Given the description of an element on the screen output the (x, y) to click on. 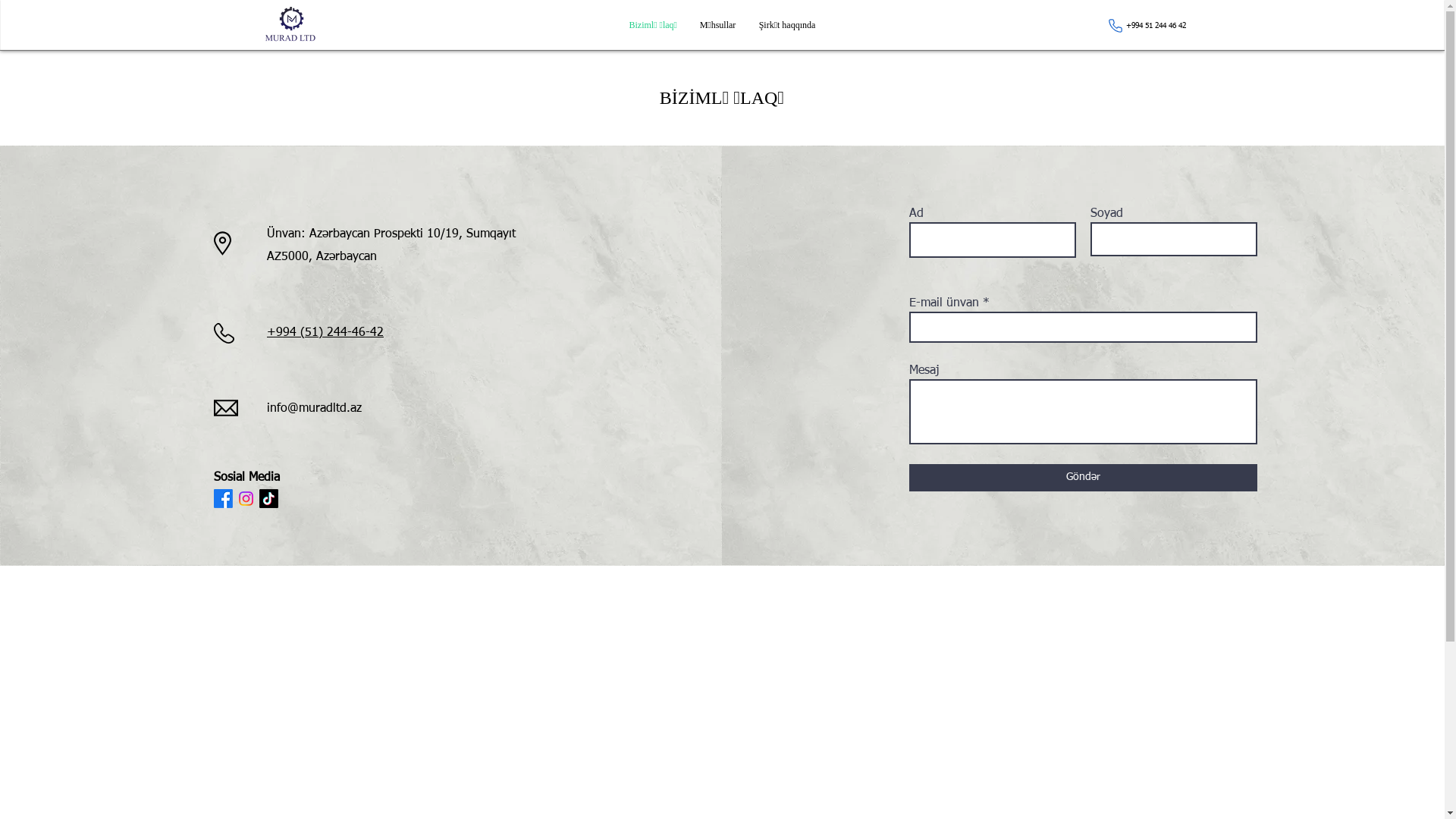
info@muradltd.az Element type: text (313, 408)
